Given the description of an element on the screen output the (x, y) to click on. 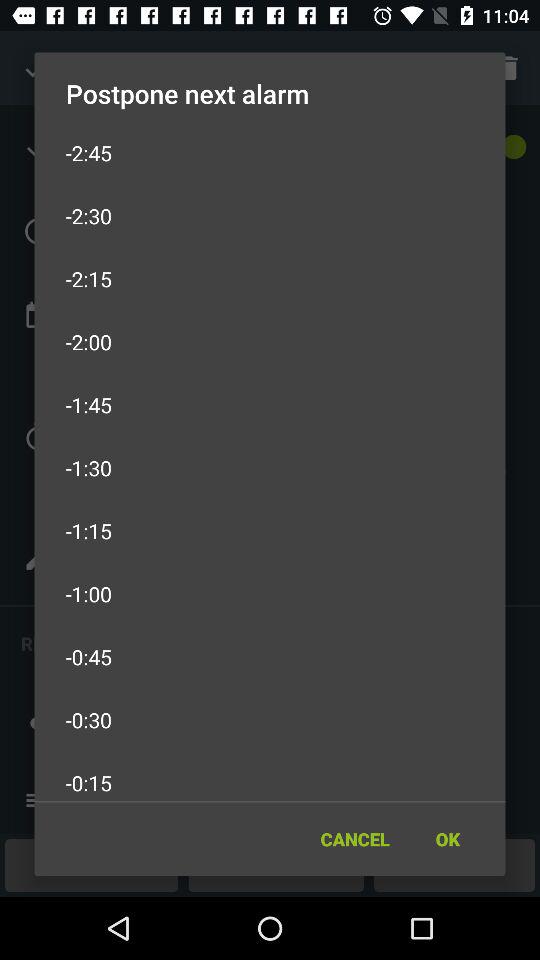
jump until the cancel (354, 838)
